Given the description of an element on the screen output the (x, y) to click on. 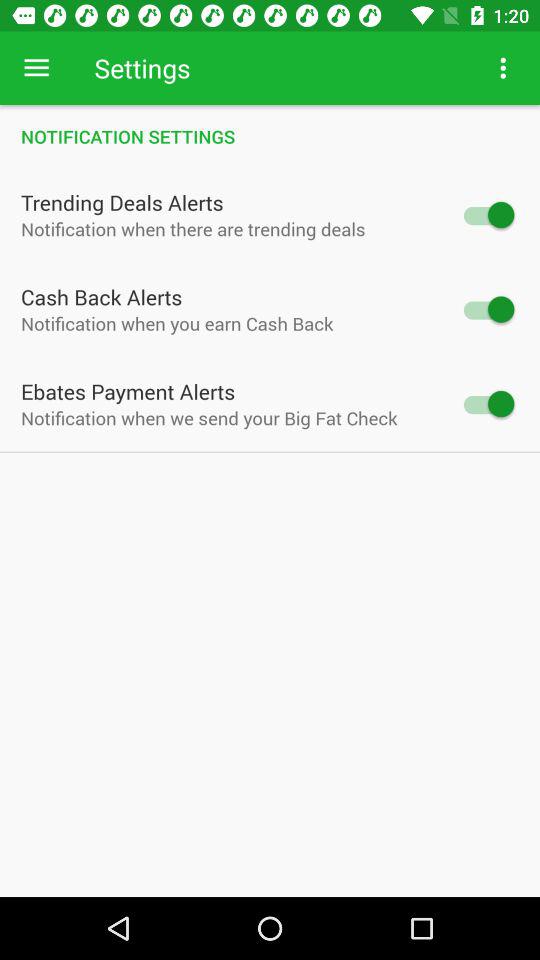
turn off the item below notification when you (128, 391)
